Given the description of an element on the screen output the (x, y) to click on. 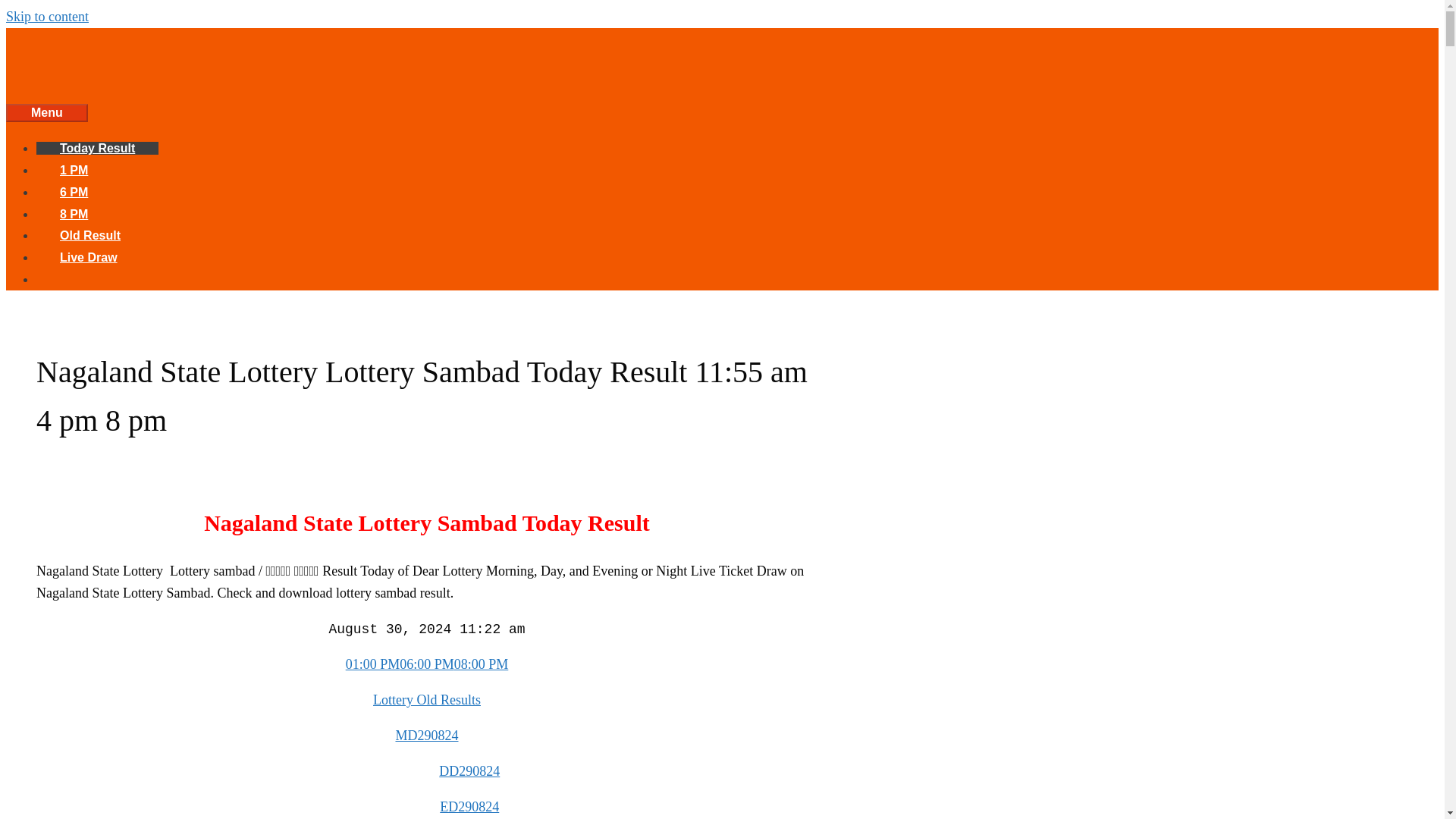
Old Result (90, 235)
8 PM (74, 214)
DD290824 (469, 770)
ED290824 (469, 806)
Today Result (97, 147)
Skip to content (46, 16)
Menu (46, 113)
Live Draw (88, 256)
06:00 PM (426, 663)
1 PM (74, 169)
